Given the description of an element on the screen output the (x, y) to click on. 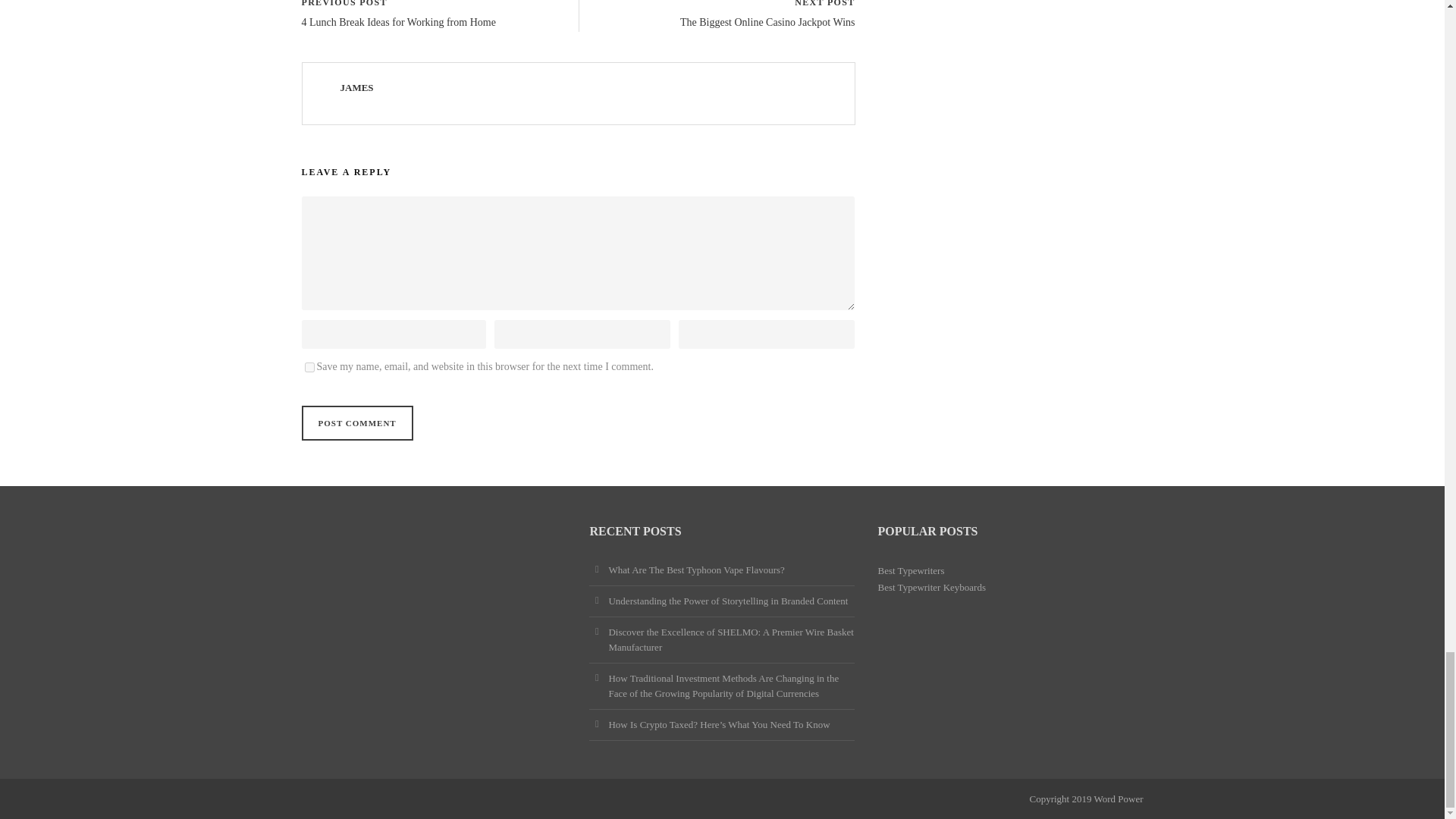
Posts by James (355, 87)
Post Comment (357, 422)
yes (309, 367)
